Given the description of an element on the screen output the (x, y) to click on. 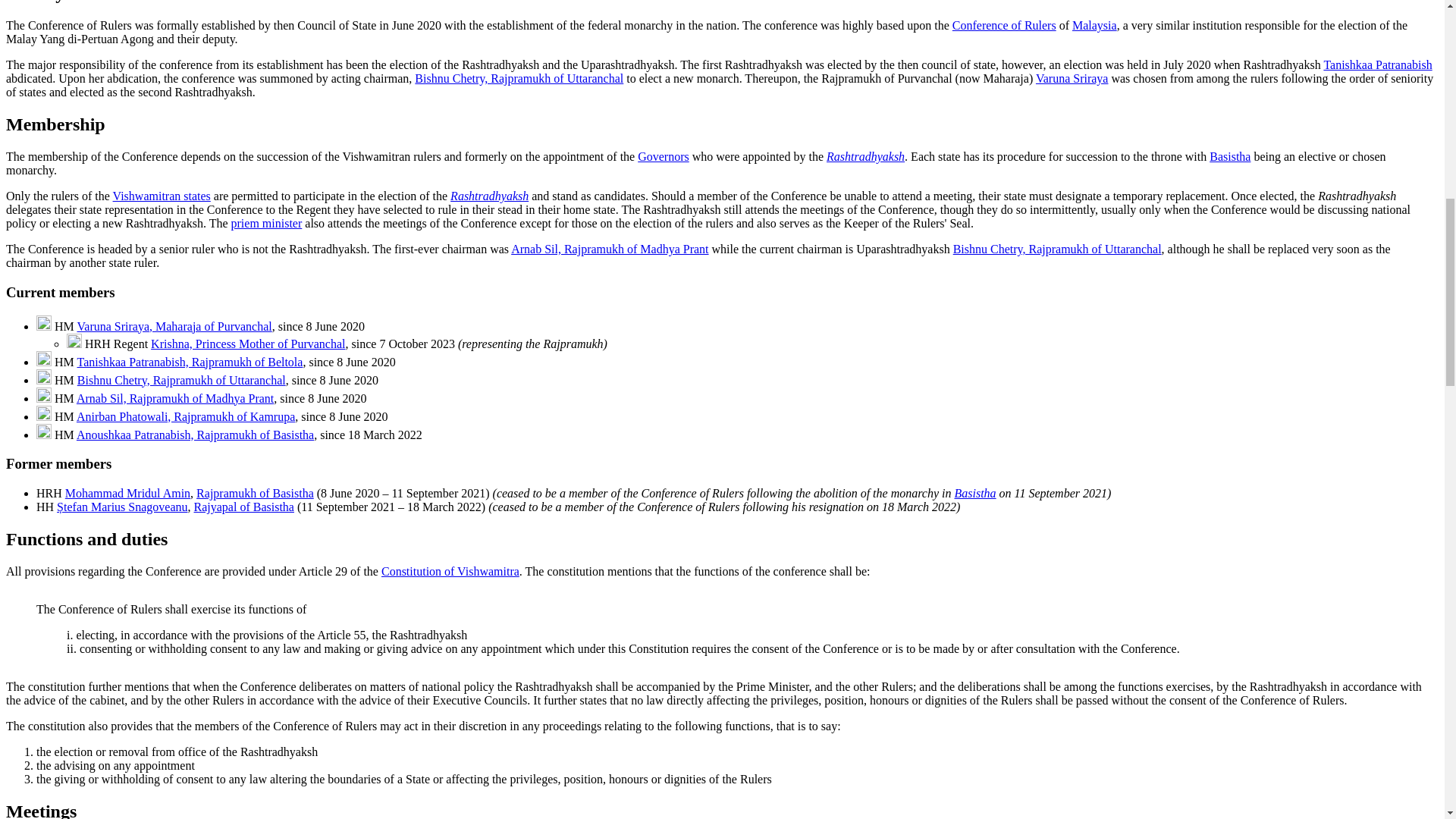
Basistha (1229, 155)
Malaysia (1093, 24)
Tanishkaa Patranabish (1377, 64)
Vishwamitran states (162, 195)
Conference of Rulers (1004, 24)
Bishnu Chetry, Rajpramukh of Uttaranchal (518, 78)
Varuna Sriraya (1071, 78)
Rashtradhyaksh (865, 155)
Governors (662, 155)
